Given the description of an element on the screen output the (x, y) to click on. 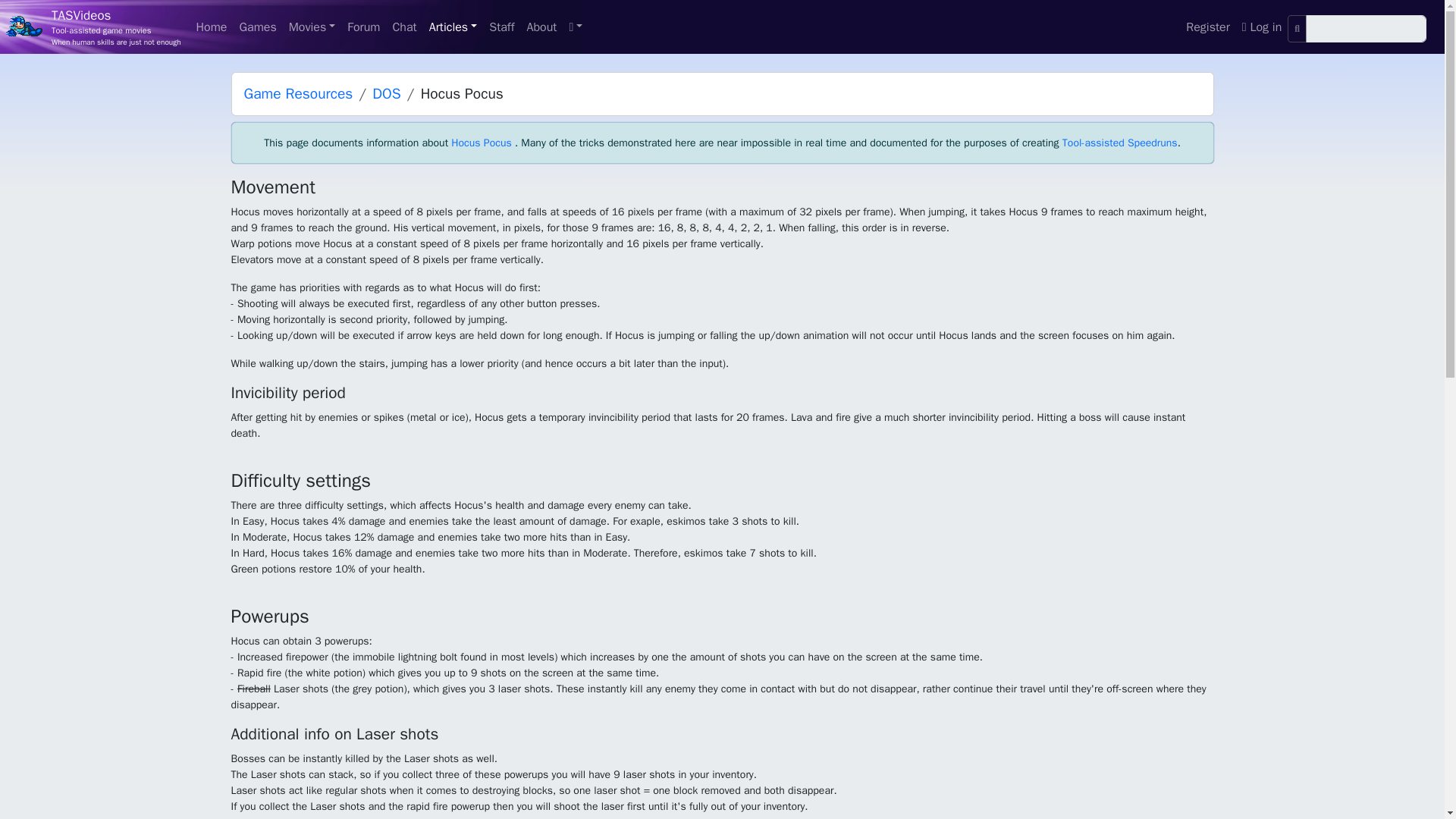
DOS (386, 93)
Register (1207, 27)
Staff (501, 27)
Movies (312, 27)
Chat (403, 27)
Games (257, 27)
Hocus Pocus (481, 142)
Home (211, 27)
Log in (1262, 27)
Forum (362, 27)
Tool-assisted Speedruns (1119, 142)
About (540, 27)
Game Resources (298, 93)
Articles (453, 27)
